Given the description of an element on the screen output the (x, y) to click on. 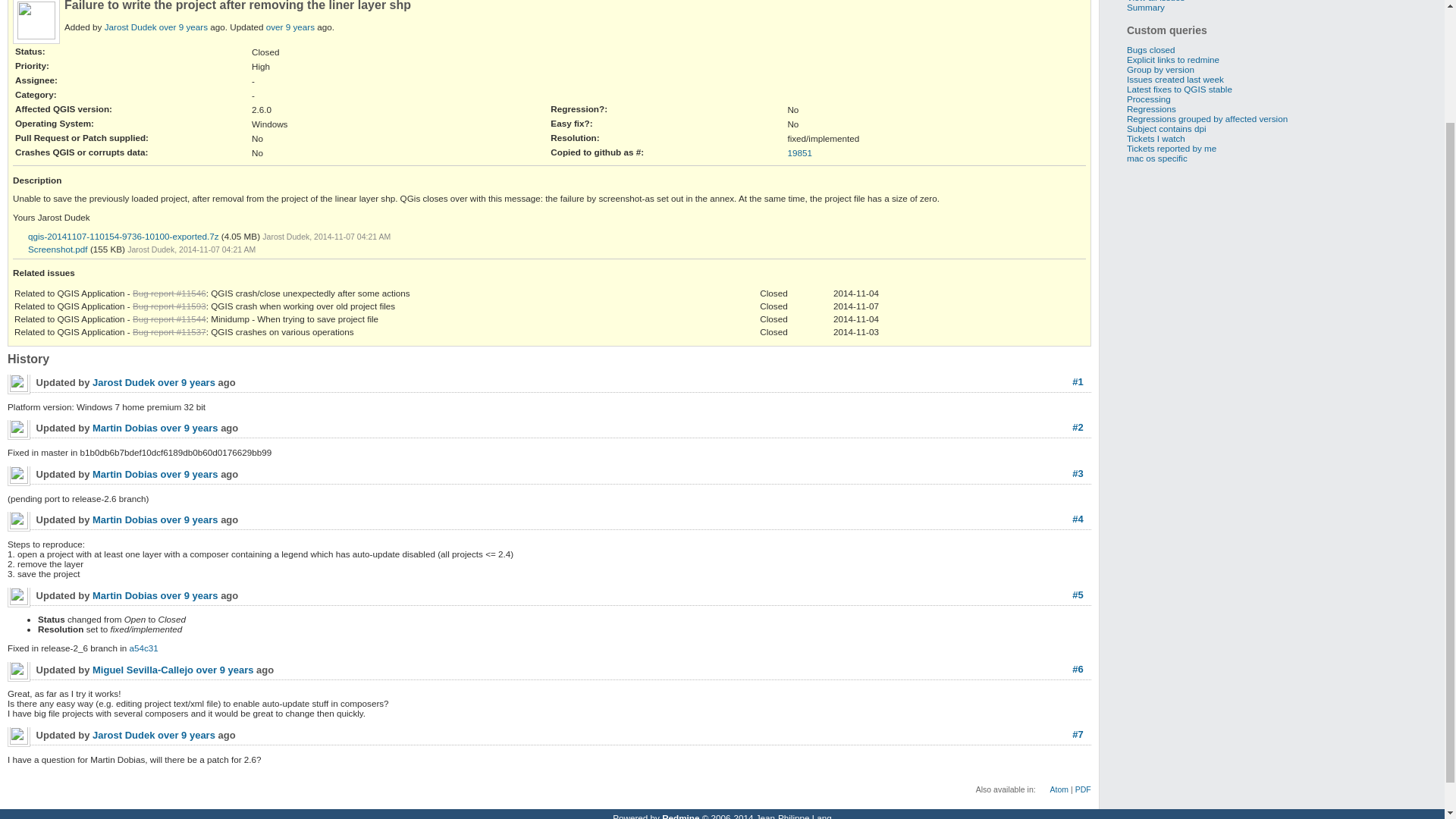
qgis-20141107-110154-9736-10100-exported.7z (115, 236)
2014-11-07 04:21 AM (183, 26)
Explicit links to redmine (1173, 59)
2014-11-07 09:41 AM (189, 595)
Tickets reported by me (1170, 148)
Processing (1148, 99)
mac os specific (1157, 157)
View all issues (1155, 1)
2014-11-12 02:45 AM (290, 26)
over 9 years (183, 26)
Group by version (1159, 69)
2014-11-12 02:45 AM (186, 735)
19851 (799, 153)
Screenshot.pdf (50, 249)
